Given the description of an element on the screen output the (x, y) to click on. 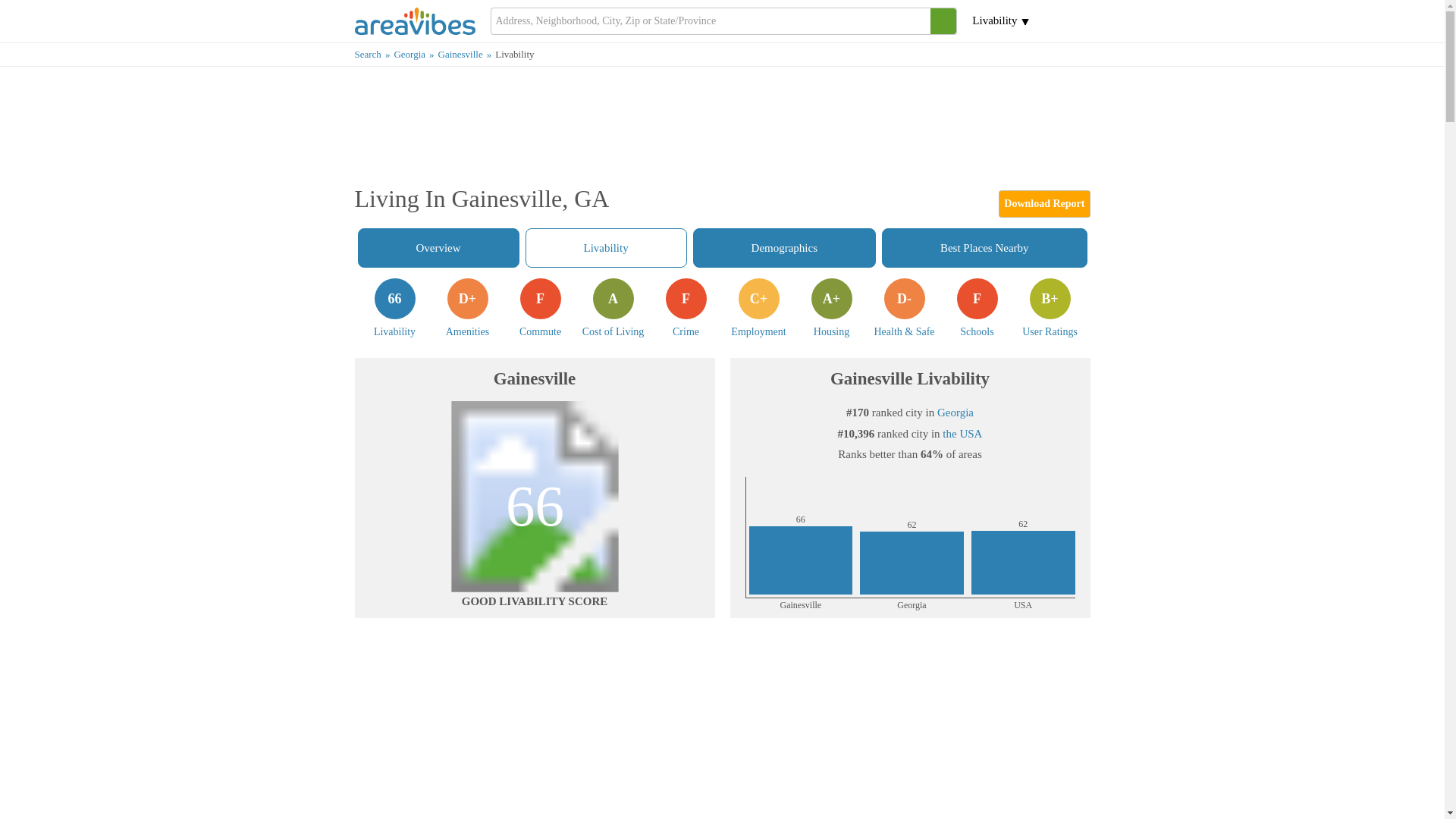
Best Places Nearby (612, 308)
Gainesville (984, 247)
Search (467, 53)
66 (374, 53)
Demographics (976, 308)
Georgia (534, 496)
Overview (784, 247)
Download Report (394, 308)
Livability (415, 53)
